Given the description of an element on the screen output the (x, y) to click on. 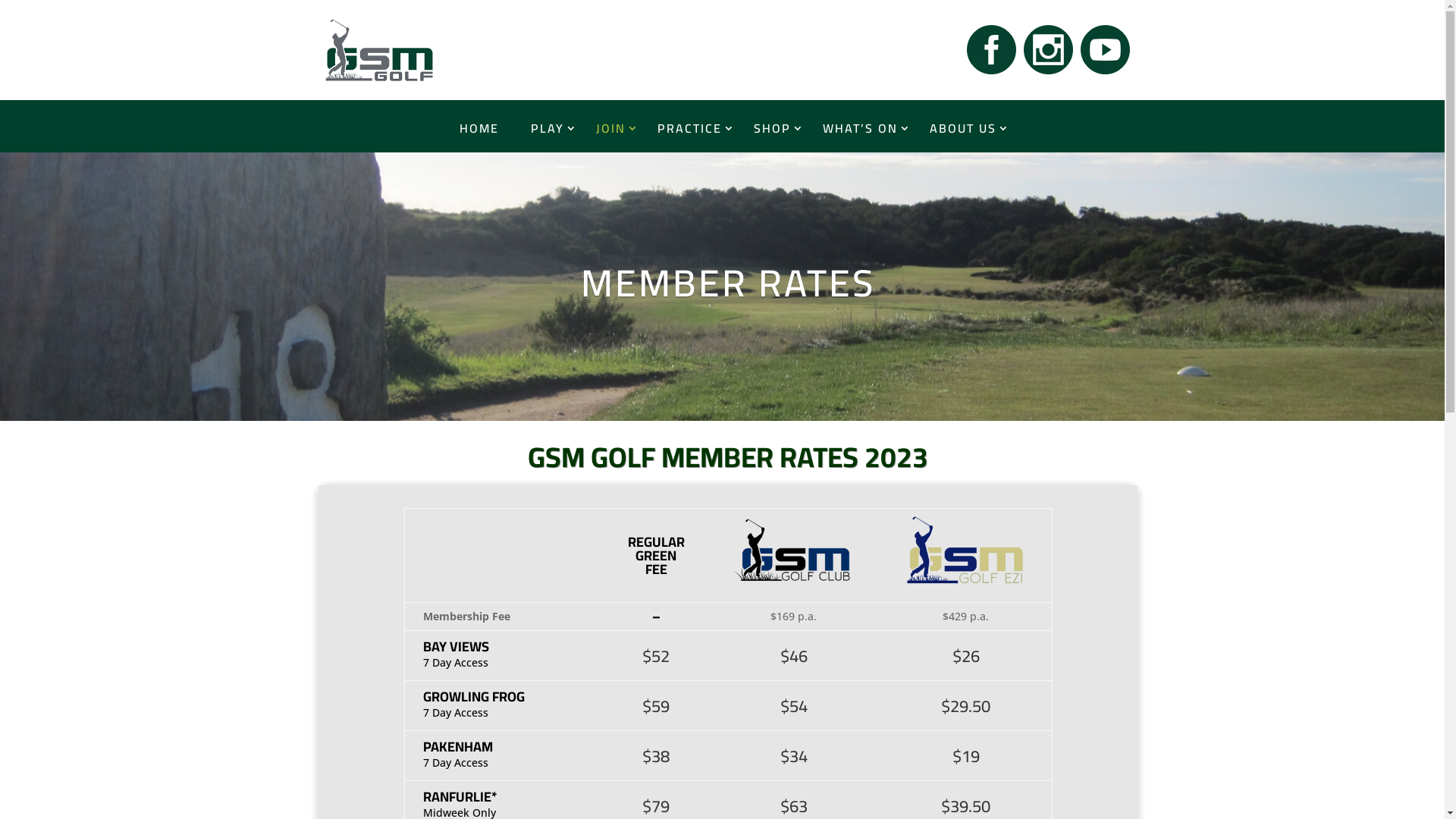
PRACTICE Element type: text (689, 127)
JOIN Element type: text (610, 127)
ABOUT US Element type: text (963, 127)
HOME Element type: text (478, 127)
GSM Golf Home Element type: hover (375, 49)
PLAY Element type: text (547, 127)
SHOP Element type: text (772, 127)
